Given the description of an element on the screen output the (x, y) to click on. 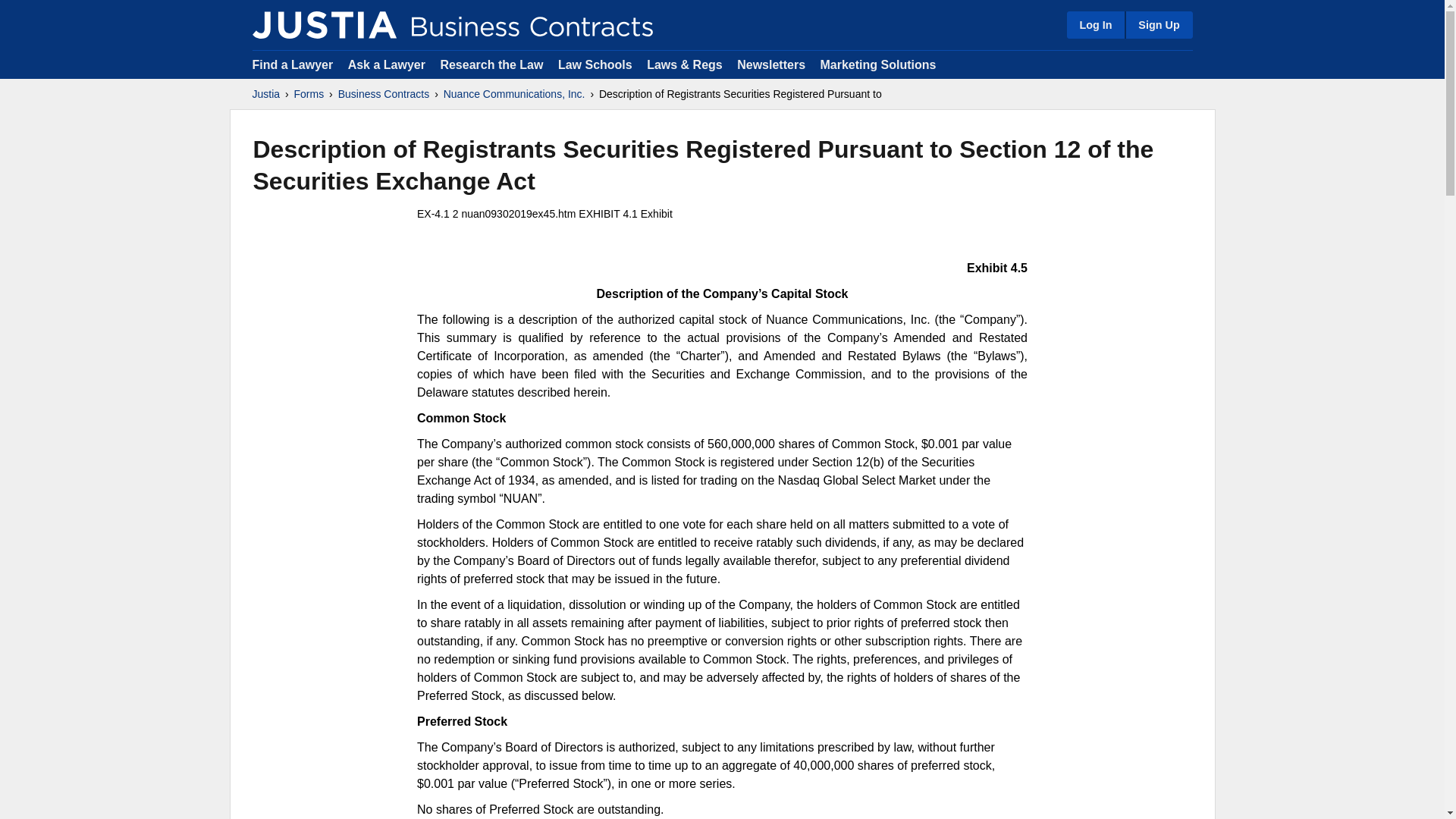
Business Contracts (383, 93)
Marketing Solutions (877, 64)
Forms (309, 93)
Justia (323, 24)
Log In (1094, 24)
Sign Up (1158, 24)
Nuance Communications, Inc. (514, 93)
Research the Law (491, 64)
Newsletters (770, 64)
Find a Lawyer (292, 64)
Justia (265, 93)
Ask a Lawyer (388, 64)
Law Schools (594, 64)
